Given the description of an element on the screen output the (x, y) to click on. 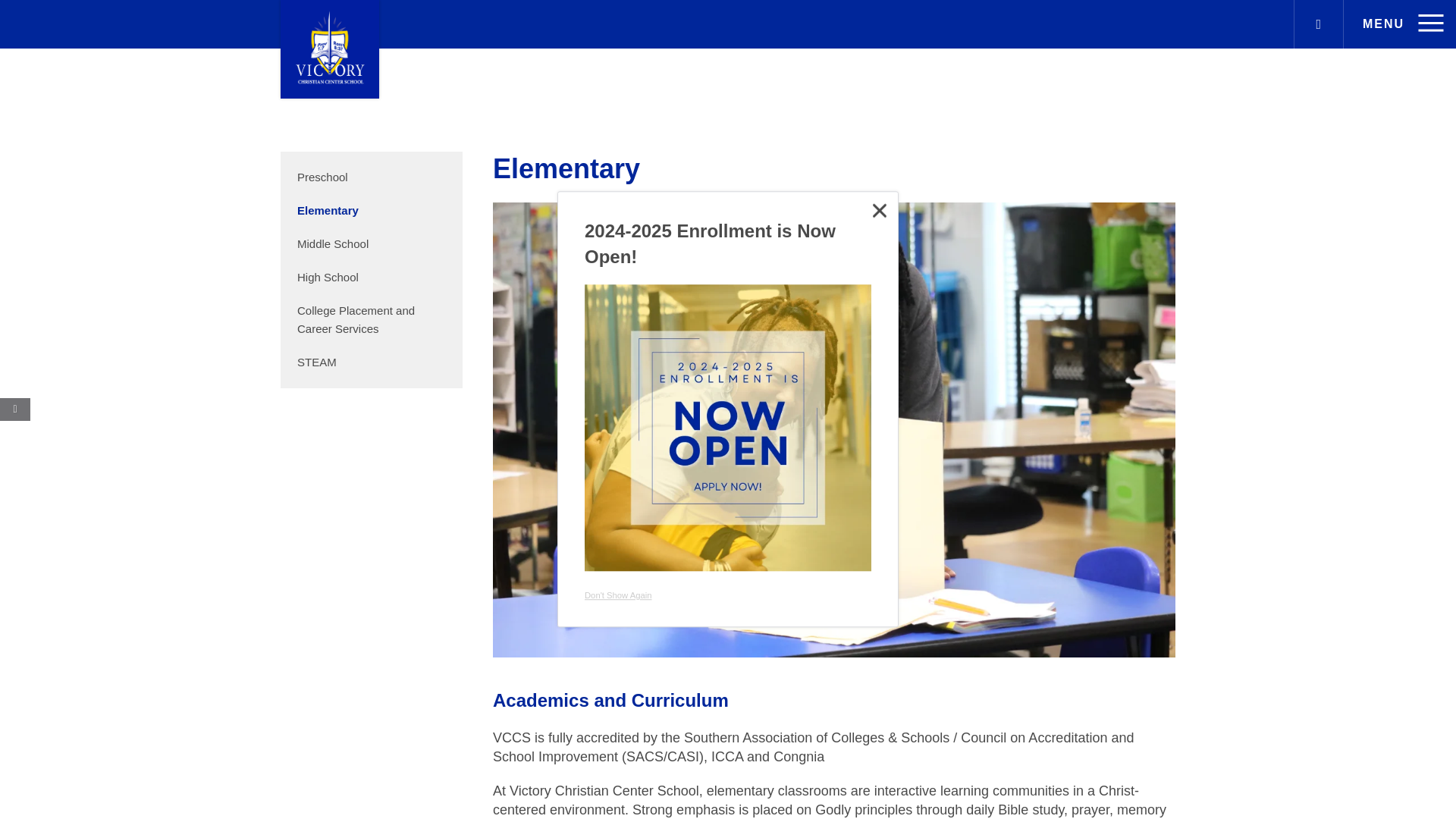
Victory Christian Center School (329, 49)
